Given the description of an element on the screen output the (x, y) to click on. 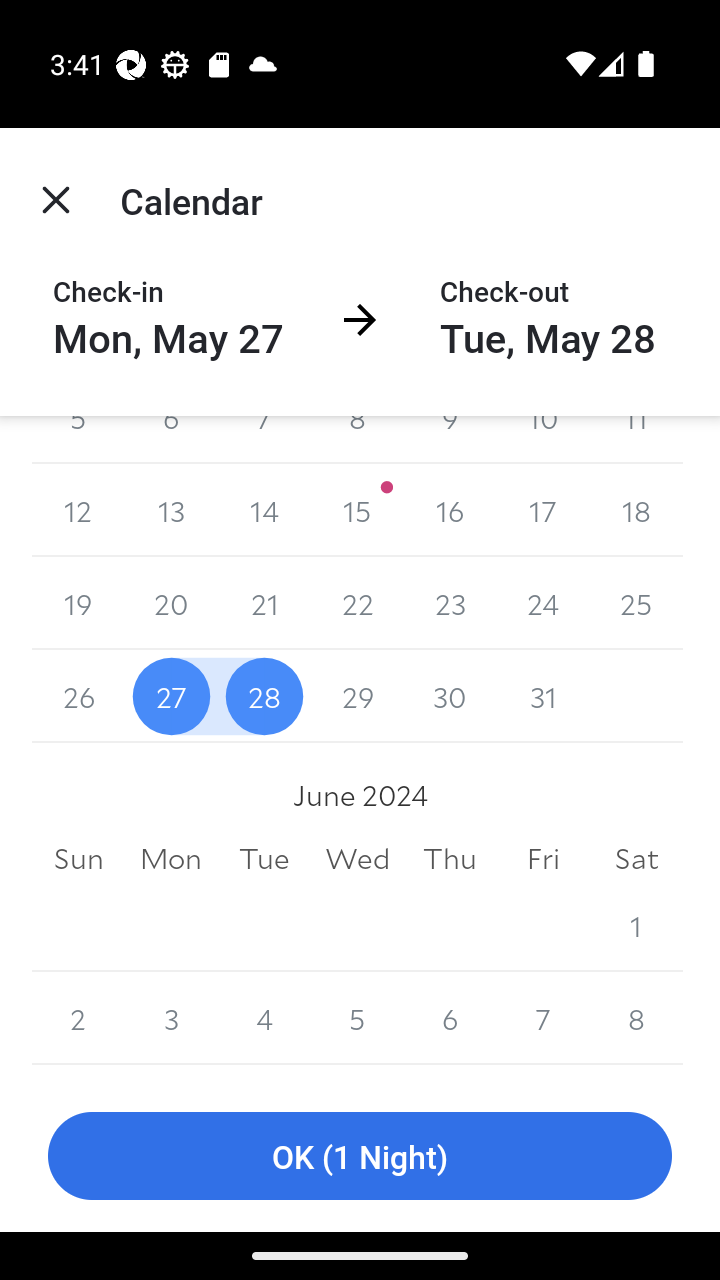
12 12 May 2024 (78, 509)
13 13 May 2024 (171, 509)
14 14 May 2024 (264, 509)
15 15 May 2024 (357, 509)
16 16 May 2024 (449, 509)
17 17 May 2024 (542, 509)
18 18 May 2024 (636, 509)
19 19 May 2024 (78, 603)
20 20 May 2024 (171, 603)
21 21 May 2024 (264, 603)
22 22 May 2024 (357, 603)
23 23 May 2024 (449, 603)
24 24 May 2024 (542, 603)
25 25 May 2024 (636, 603)
26 26 May 2024 (78, 696)
27 27 May 2024 (171, 696)
28 28 May 2024 (264, 696)
29 29 May 2024 (357, 696)
30 30 May 2024 (449, 696)
31 31 May 2024 (542, 696)
Sun (78, 858)
Mon (171, 858)
Tue (264, 858)
Wed (357, 858)
Thu (449, 858)
Fri (542, 858)
Sat (636, 858)
1 1 June 2024 (636, 925)
2 2 June 2024 (78, 1017)
3 3 June 2024 (171, 1017)
4 4 June 2024 (264, 1017)
5 5 June 2024 (357, 1017)
6 6 June 2024 (449, 1017)
7 7 June 2024 (542, 1017)
8 8 June 2024 (636, 1017)
OK (1 Night) (359, 1156)
